Given the description of an element on the screen output the (x, y) to click on. 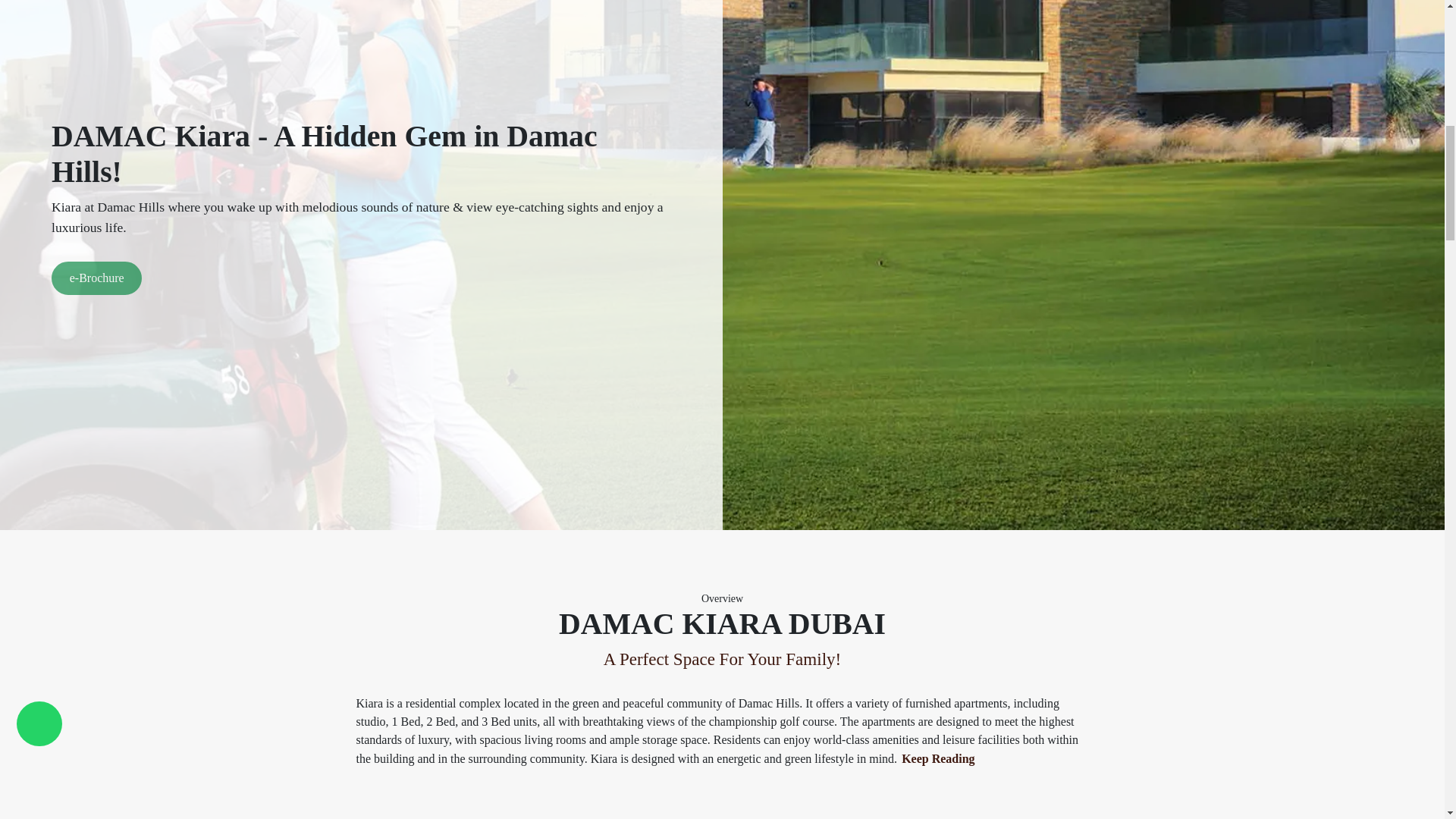
Keep Reading (937, 759)
e-Brochure (95, 277)
